Given the description of an element on the screen output the (x, y) to click on. 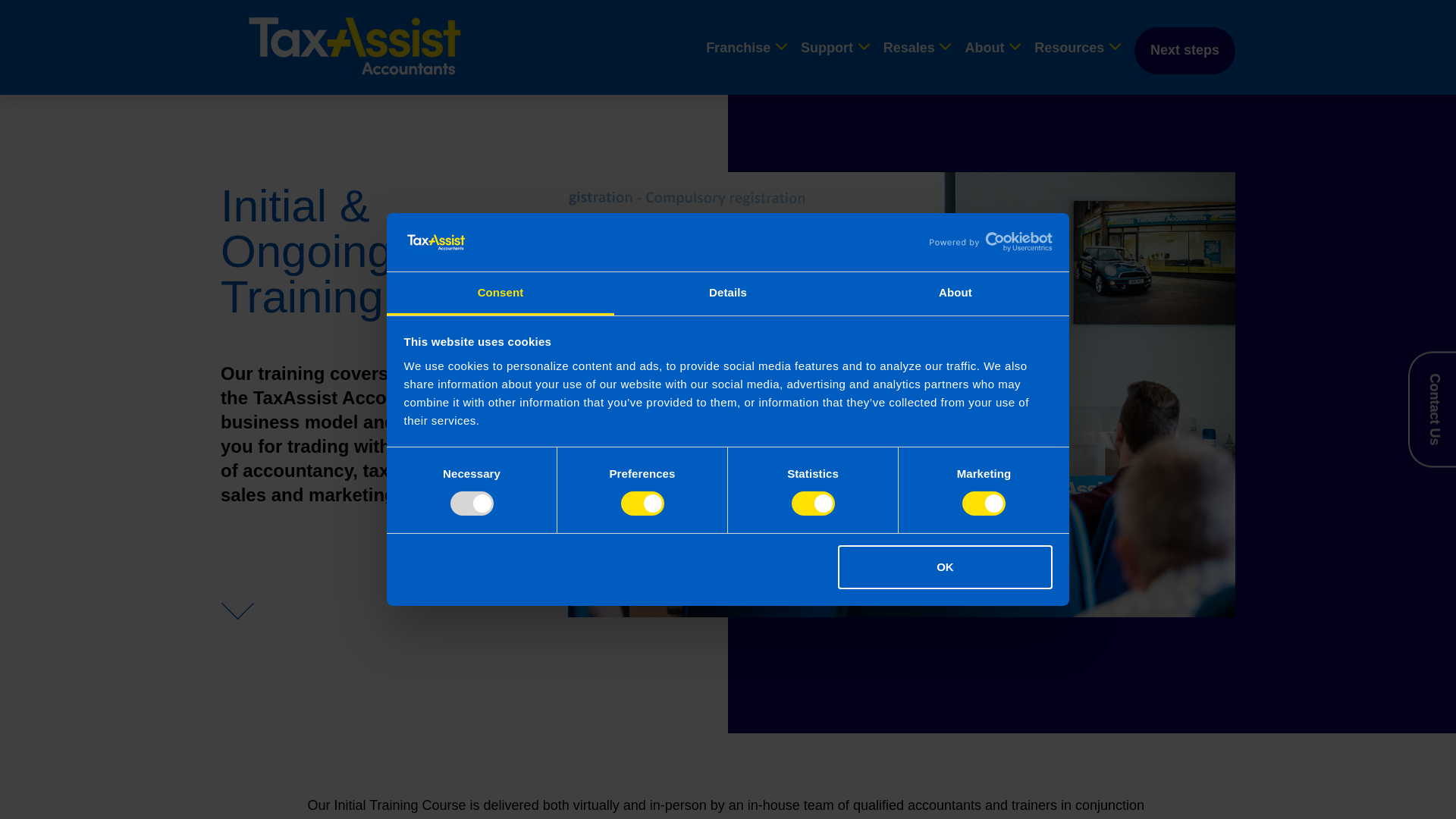
OK (944, 566)
Consent (500, 293)
About (954, 293)
Details (727, 293)
